Given the description of an element on the screen output the (x, y) to click on. 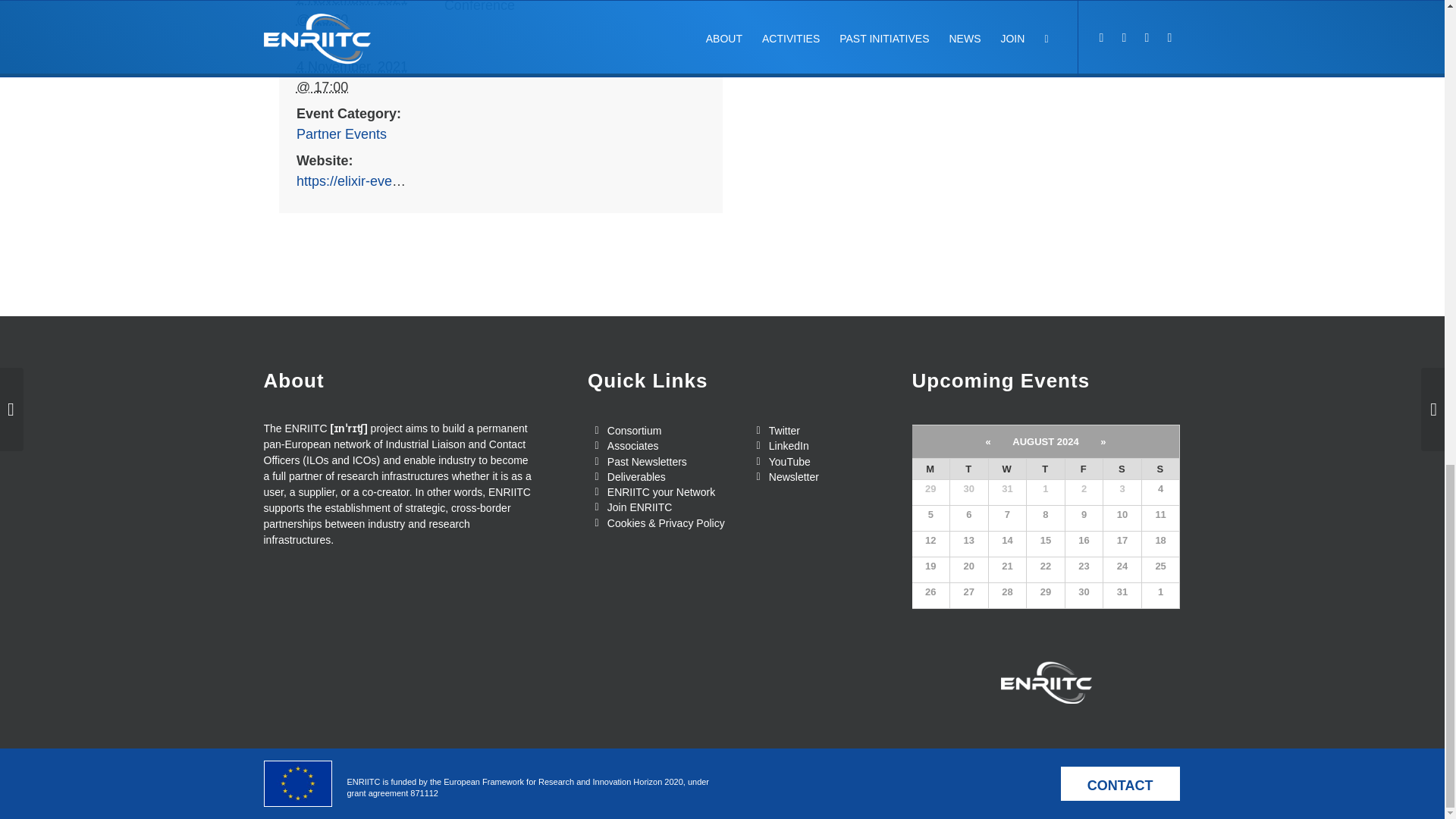
2021-11-04 (352, 76)
2021-11-02 (352, 13)
